Given the description of an element on the screen output the (x, y) to click on. 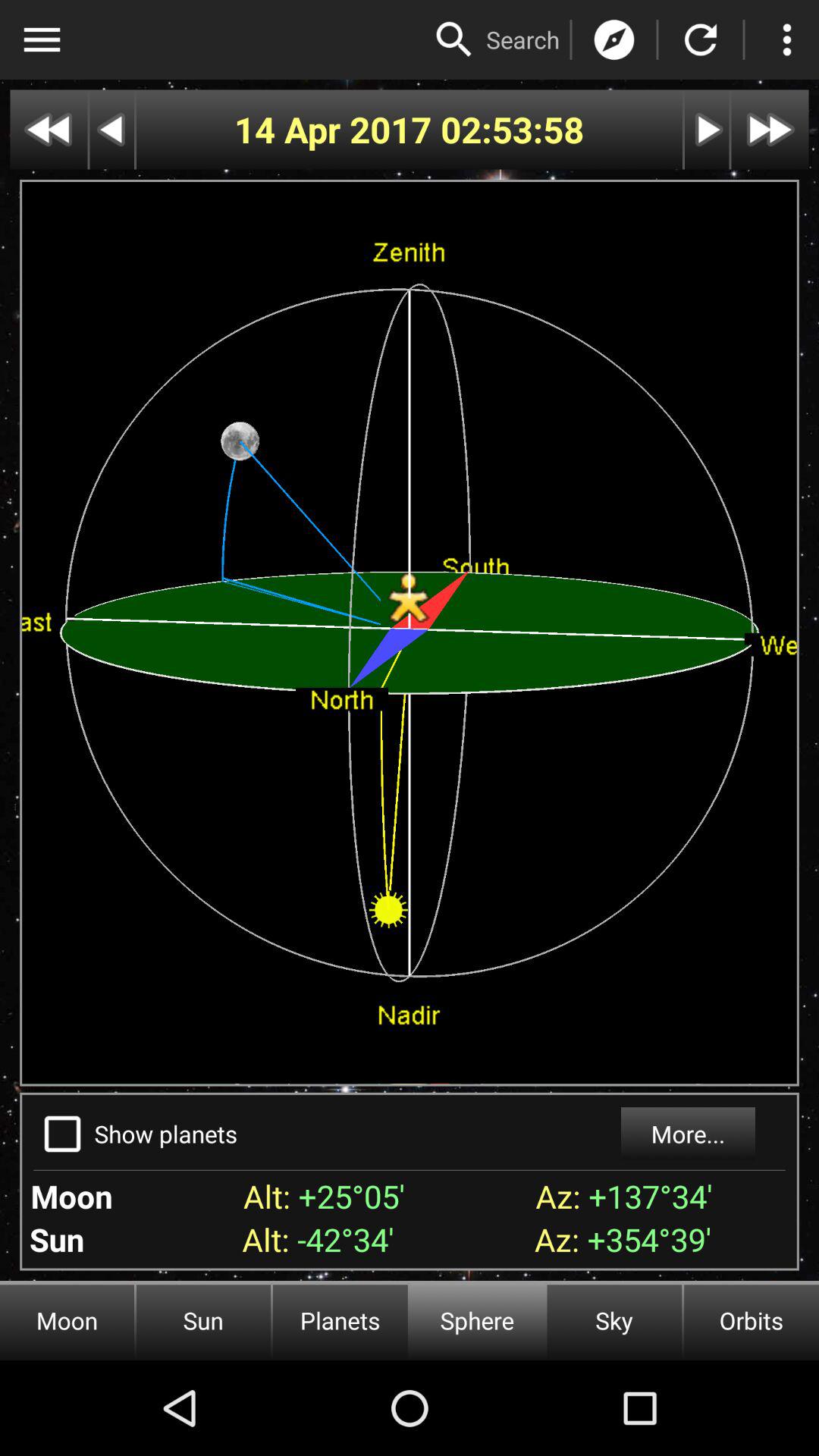
replay selection (700, 39)
